Given the description of an element on the screen output the (x, y) to click on. 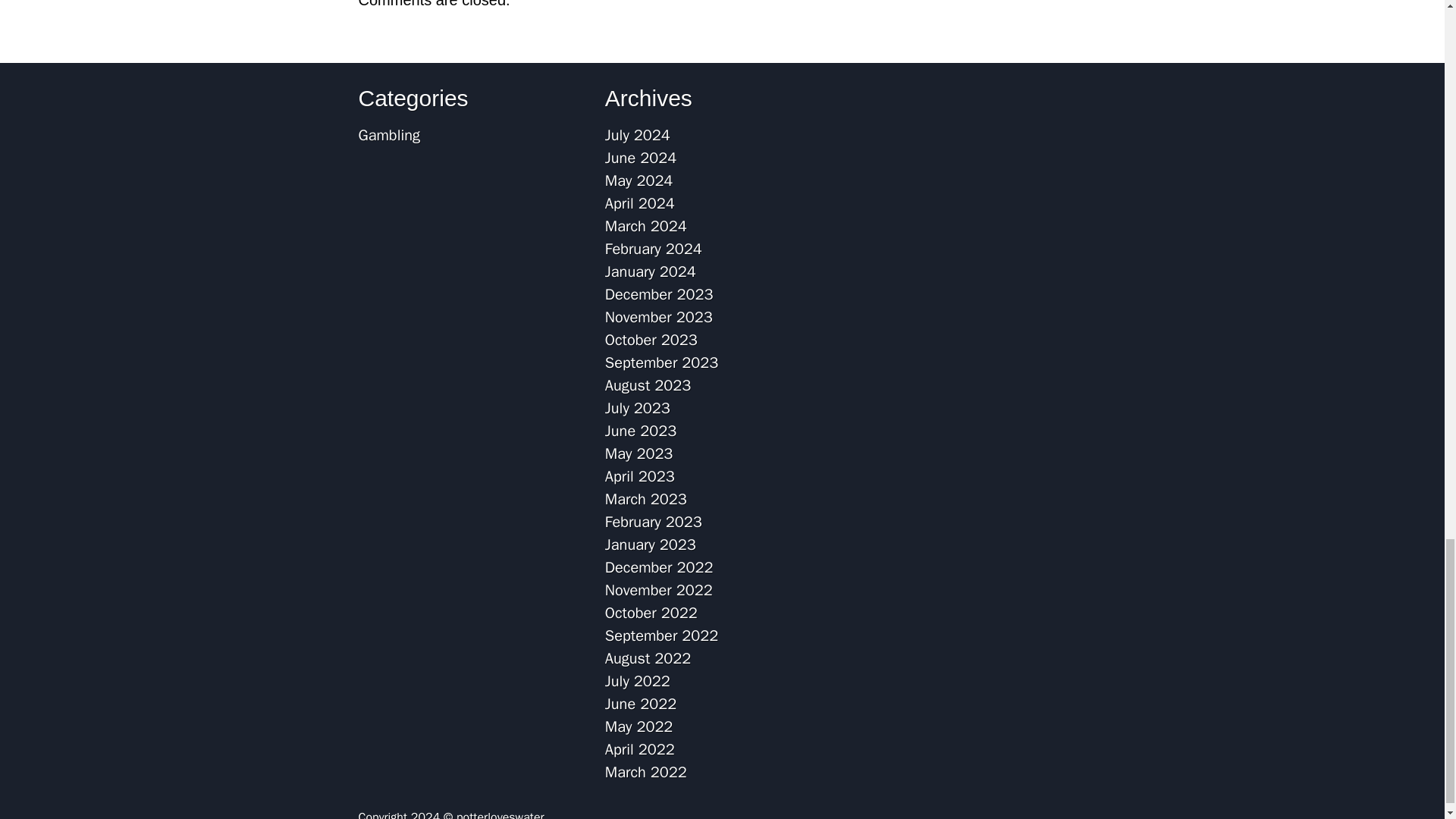
October 2023 (651, 339)
July 2024 (637, 135)
July 2022 (637, 681)
March 2022 (646, 772)
April 2024 (640, 203)
April 2023 (640, 476)
January 2023 (650, 544)
December 2023 (659, 294)
October 2022 (651, 612)
May 2022 (638, 726)
June 2024 (641, 157)
September 2023 (661, 362)
November 2023 (659, 316)
December 2022 (659, 567)
January 2024 (650, 271)
